Given the description of an element on the screen output the (x, y) to click on. 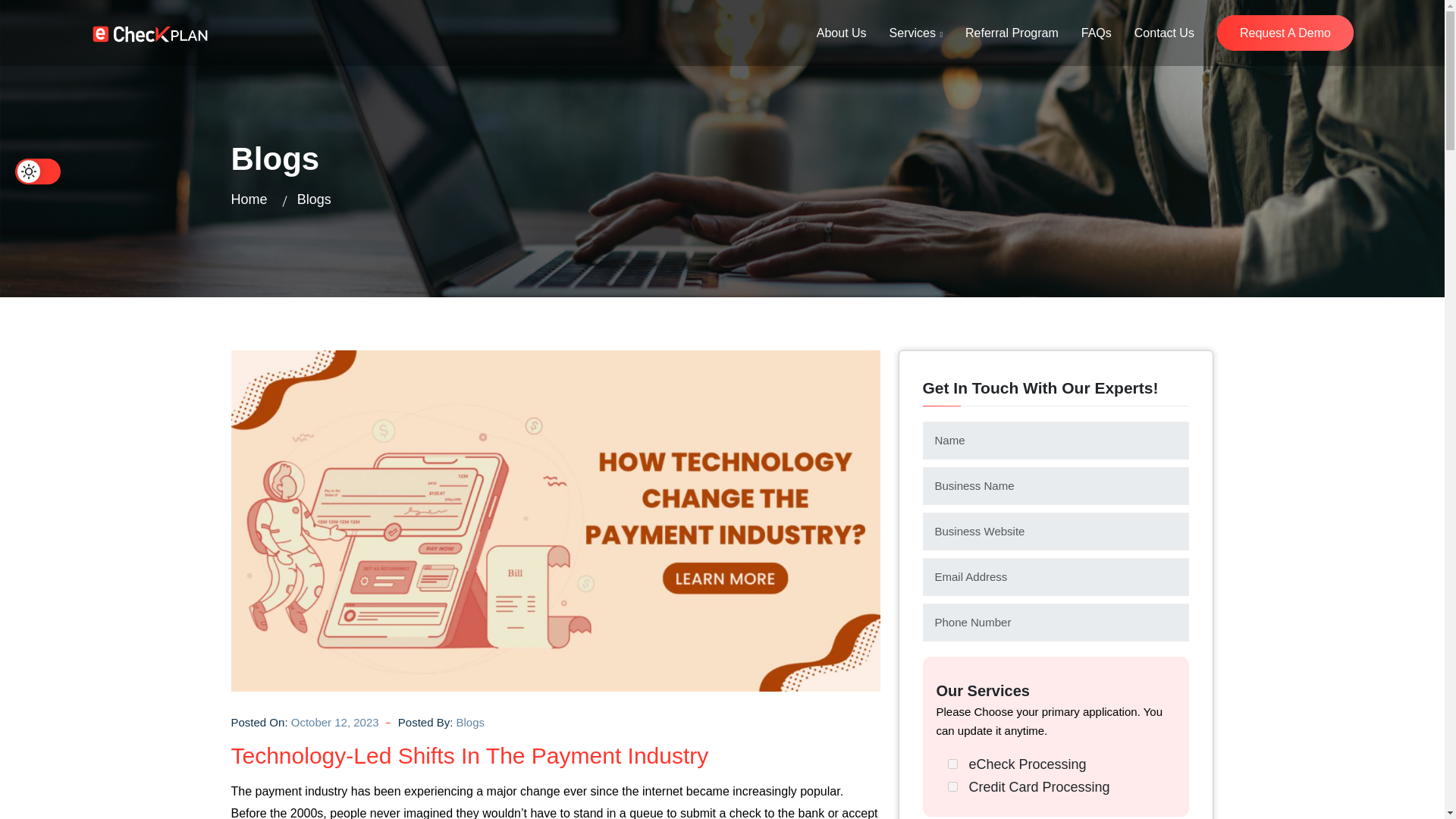
Home (248, 199)
Blogs (470, 723)
Contact Us (1163, 33)
Credit Card Processing (952, 786)
About Us (841, 33)
eCheck Processing (952, 764)
Request A Demo (1285, 32)
October 12, 2023 (334, 723)
Posts by Blogs (470, 723)
FAQs (1096, 33)
Referral Program (1011, 33)
Services (915, 33)
